Given the description of an element on the screen output the (x, y) to click on. 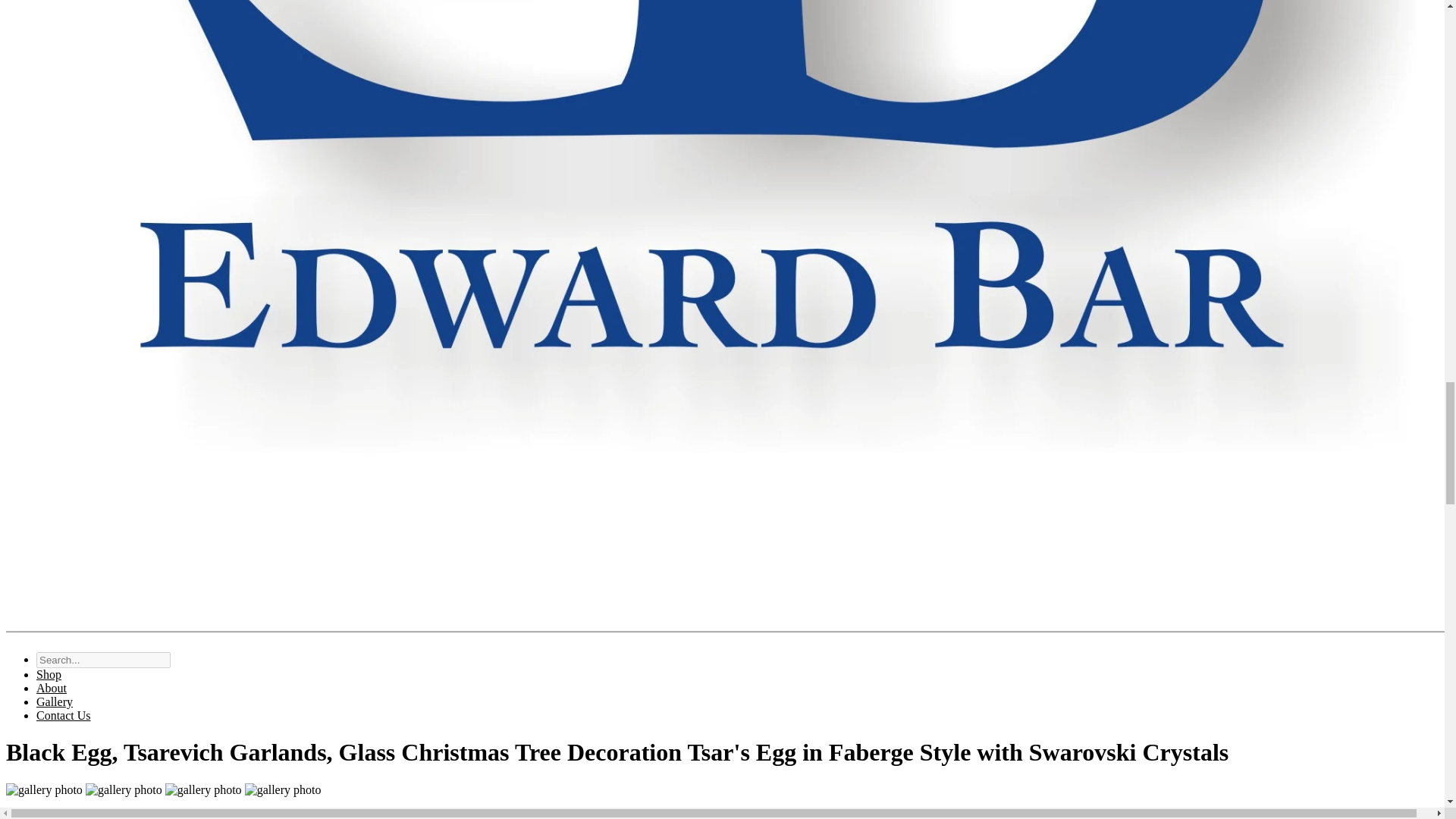
Contact Us (63, 715)
Gallery (54, 701)
About (51, 687)
Shop (48, 674)
